Given the description of an element on the screen output the (x, y) to click on. 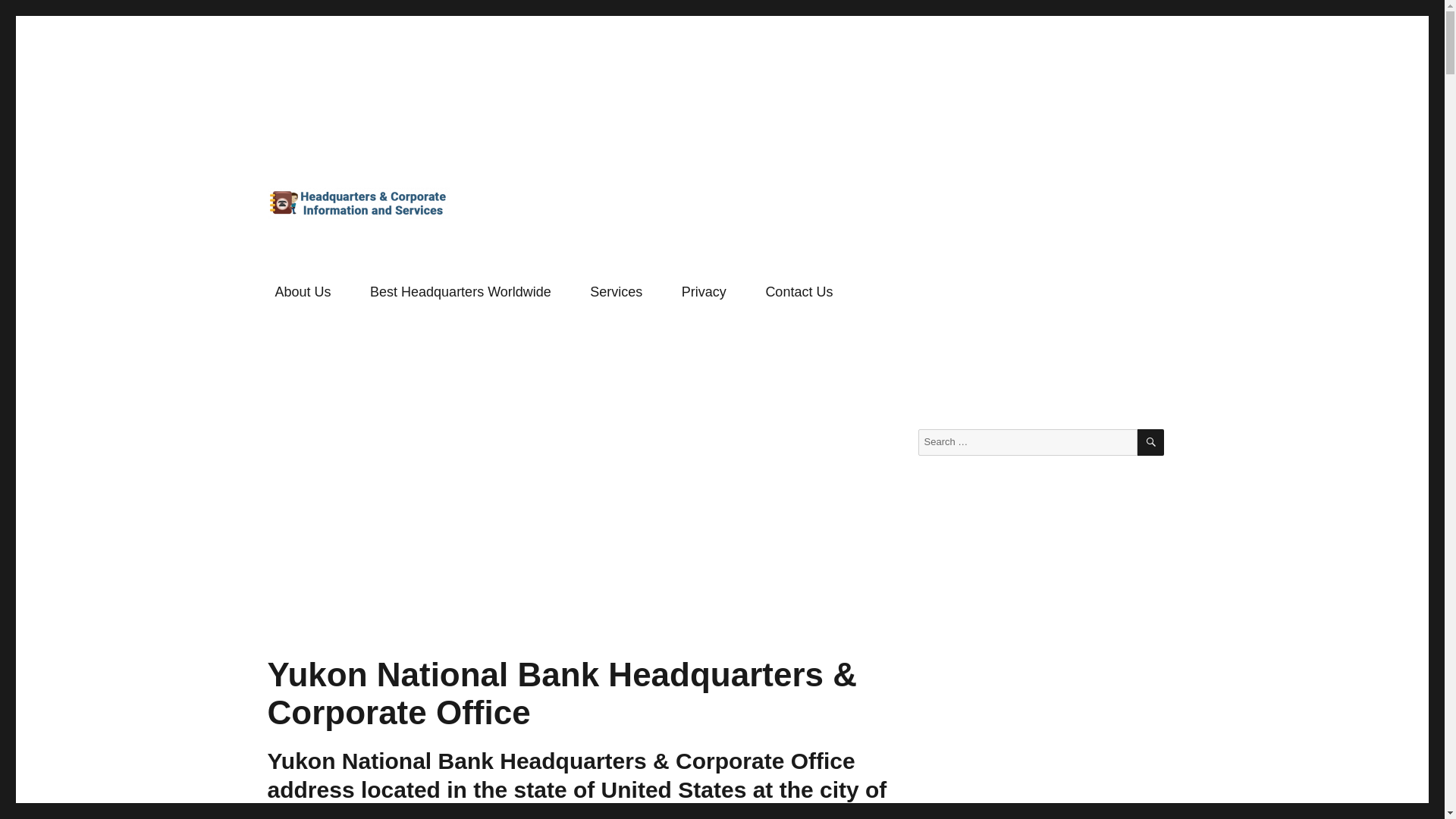
SEARCH (1150, 442)
Best Headquarters Worldwide (460, 292)
Services (616, 292)
About Us (303, 292)
Privacy (703, 292)
Contact Us (799, 292)
